Given the description of an element on the screen output the (x, y) to click on. 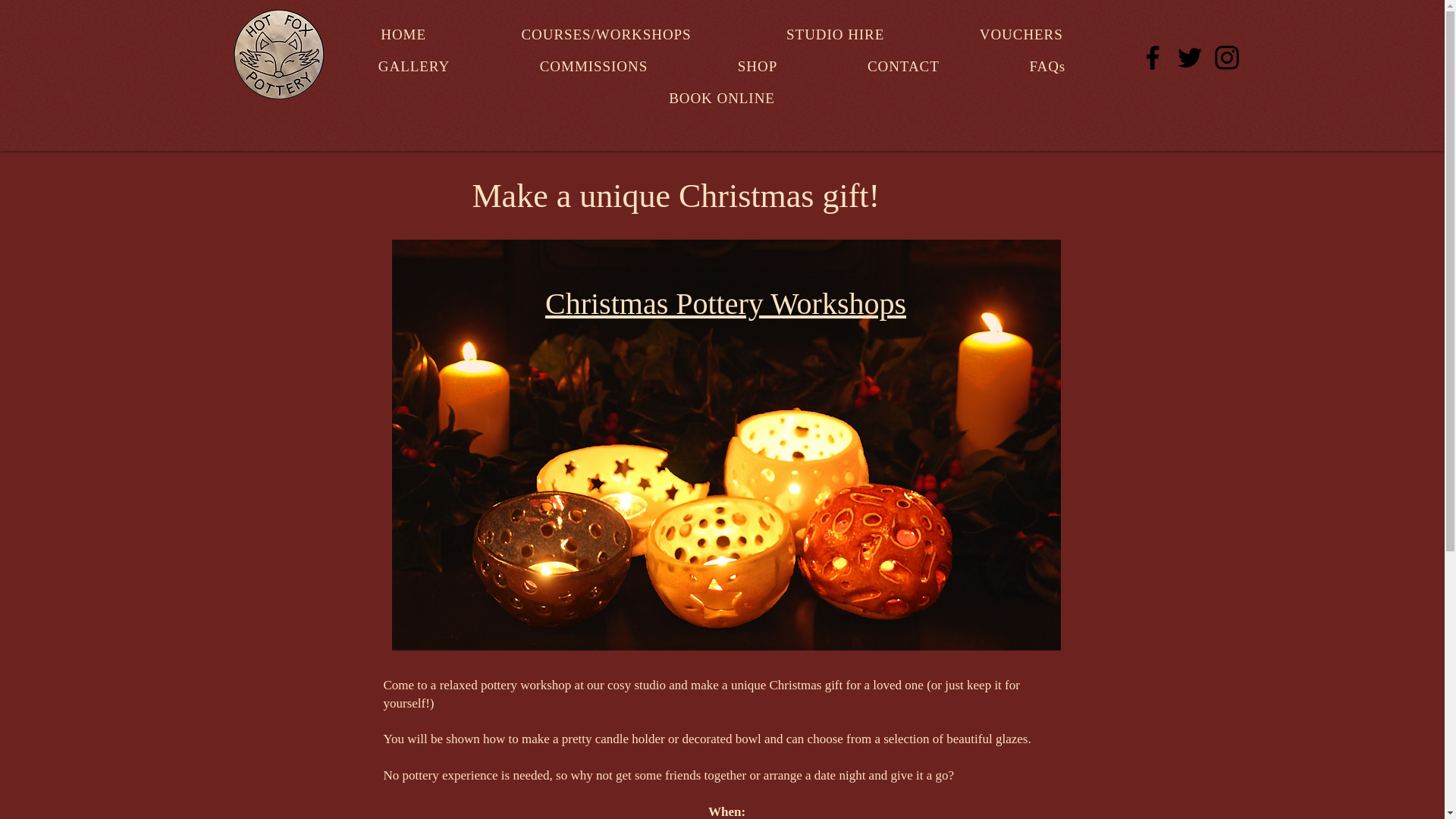
BOOK ONLINE (722, 98)
HOME (403, 34)
VOUCHERS (1021, 34)
STUDIO HIRE (834, 34)
GALLERY (414, 66)
COMMISSIONS (593, 66)
CONTACT (904, 66)
FAQs (1047, 66)
SHOP (757, 66)
Christmas Pottery Workshops (724, 303)
